Given the description of an element on the screen output the (x, y) to click on. 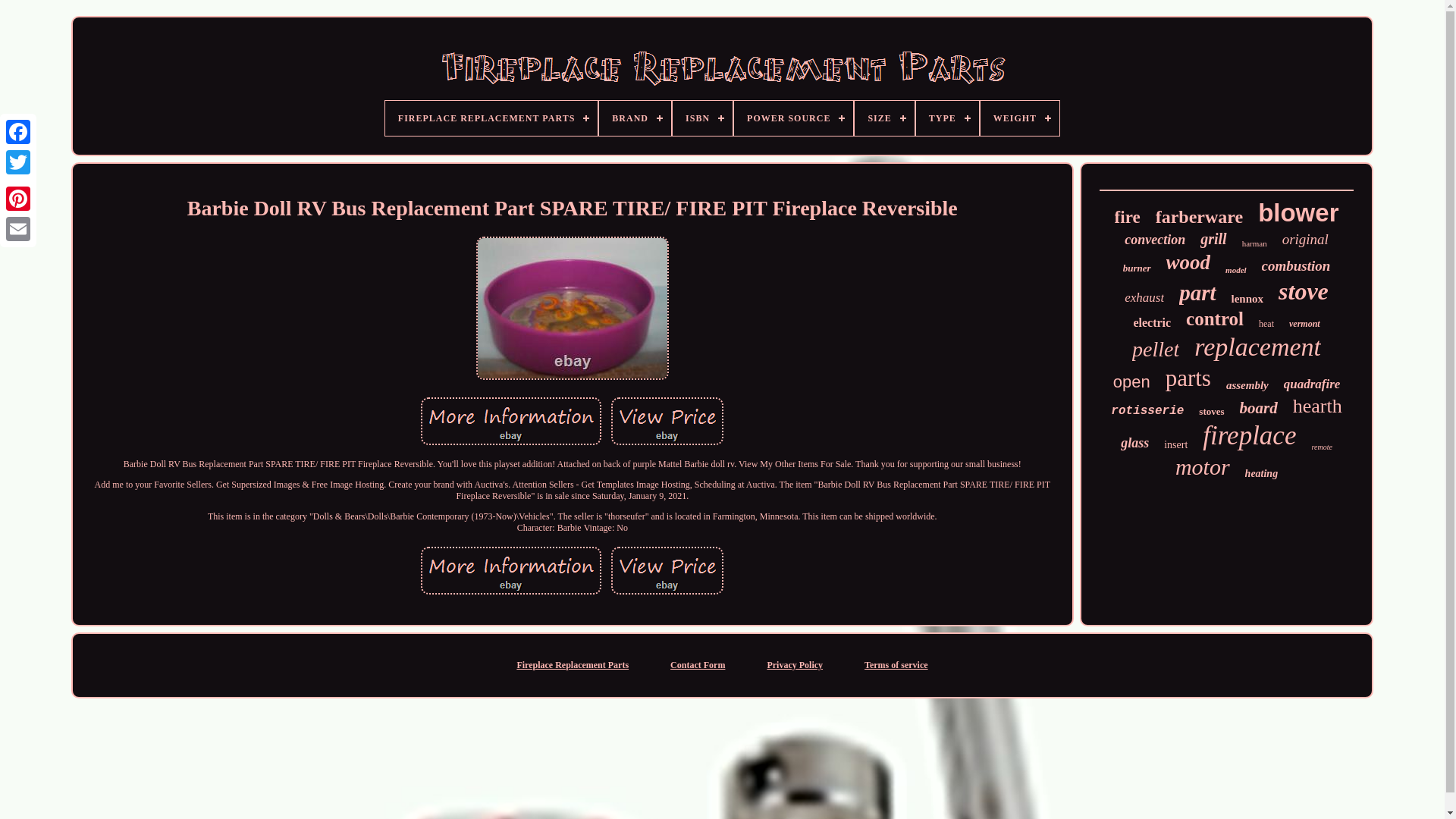
POWER SOURCE (793, 117)
BRAND (634, 117)
ISBN (702, 117)
FIREPLACE REPLACEMENT PARTS (491, 117)
